Given the description of an element on the screen output the (x, y) to click on. 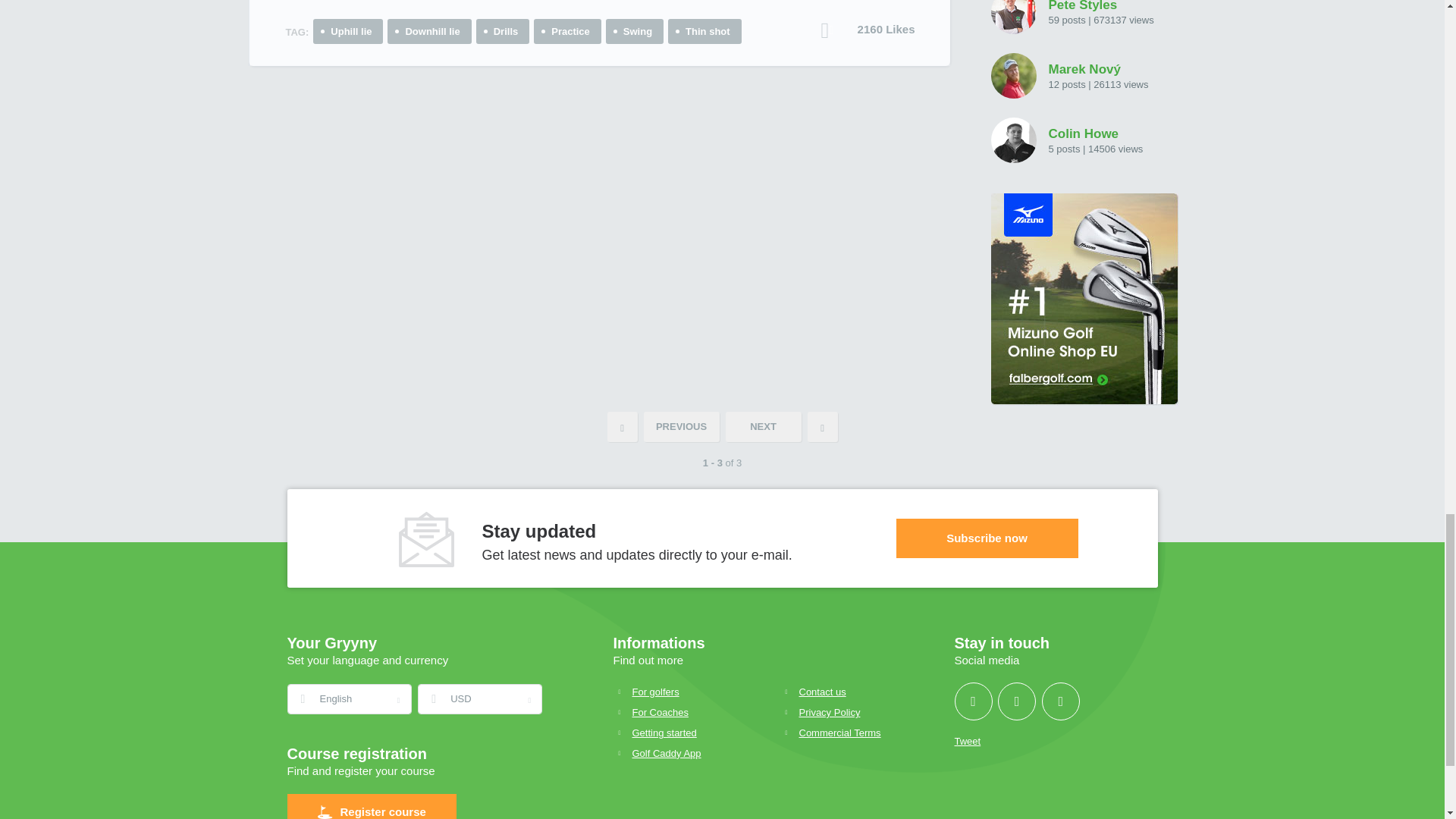
Last (821, 426)
First (622, 426)
